Given the description of an element on the screen output the (x, y) to click on. 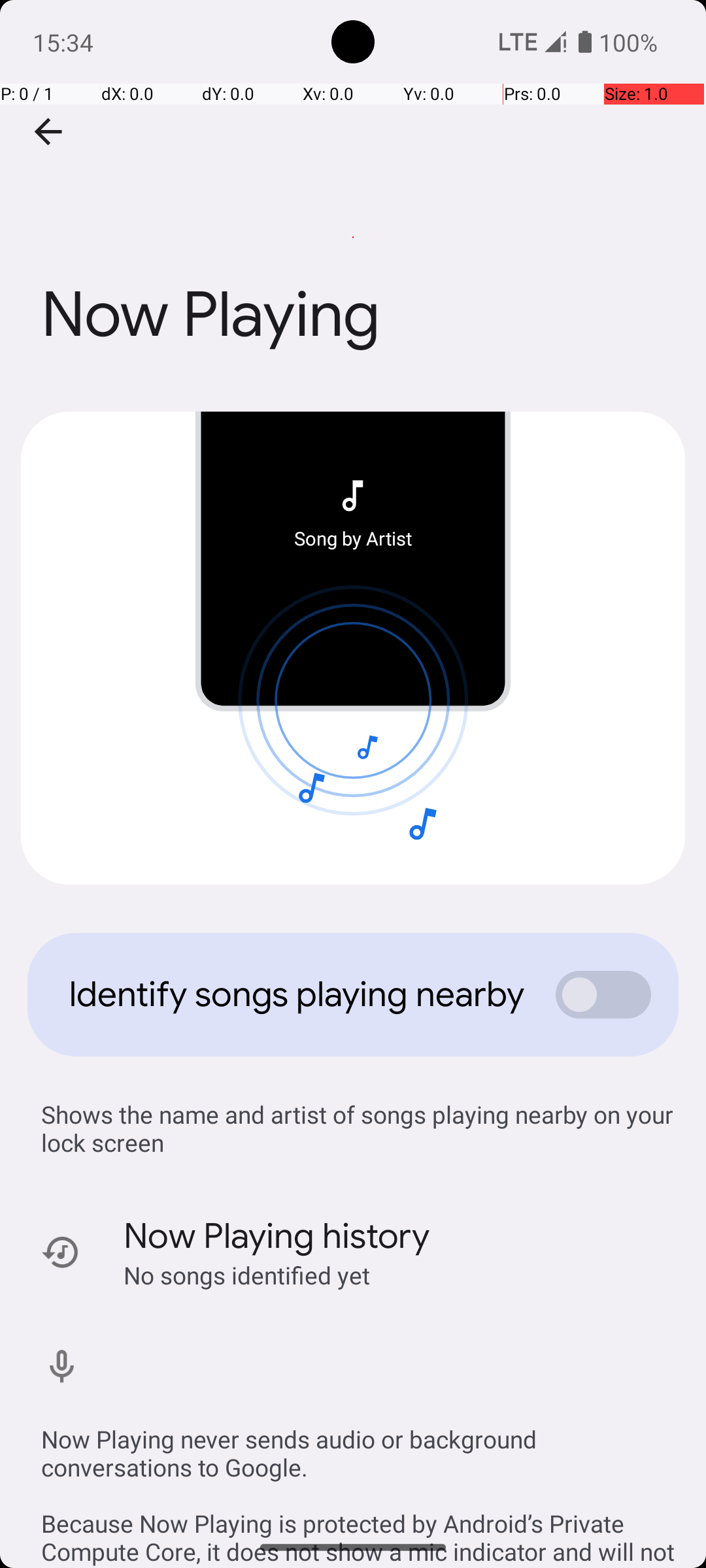
Shows the name and artist of songs playing nearby on your lock screen Element type: android.widget.TextView (359, 1128)
Now Playing history Element type: android.widget.TextView (276, 1235)
No songs identified yet Element type: android.widget.TextView (246, 1274)
Now Playing never sends audio or background conversations to Google.

Because Now Playing is protected by Android’s Private Compute Core, it does not show a mic indicator and will not appear on your Privacy dashboard. Element type: android.widget.TextView (359, 1481)
